Given the description of an element on the screen output the (x, y) to click on. 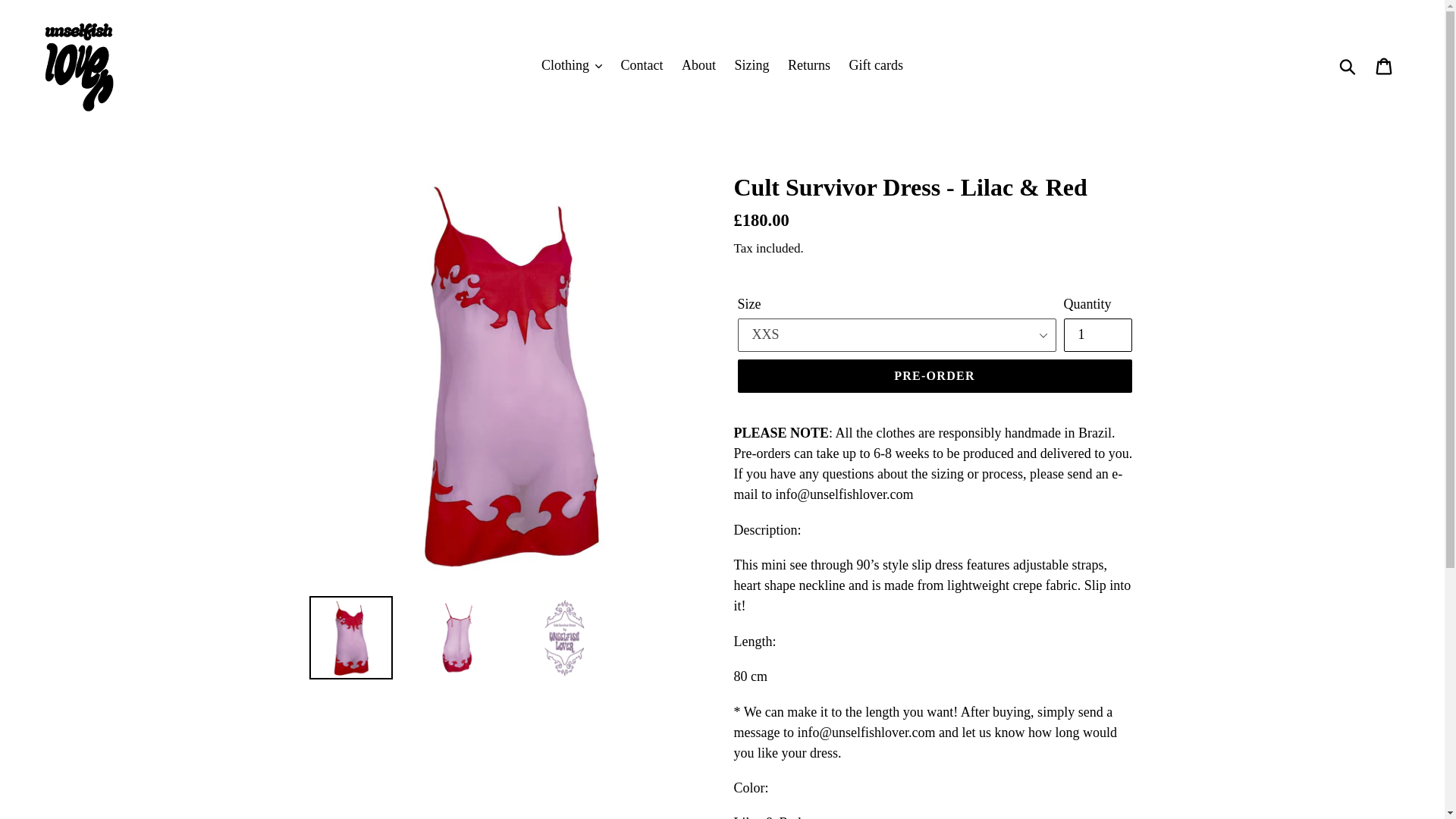
Submit (1348, 64)
Returns (809, 65)
1 (1096, 335)
Gift cards (876, 65)
PRE-ORDER (933, 376)
Cart (1385, 64)
About (698, 65)
Sizing (751, 65)
Contact (640, 65)
